Given the description of an element on the screen output the (x, y) to click on. 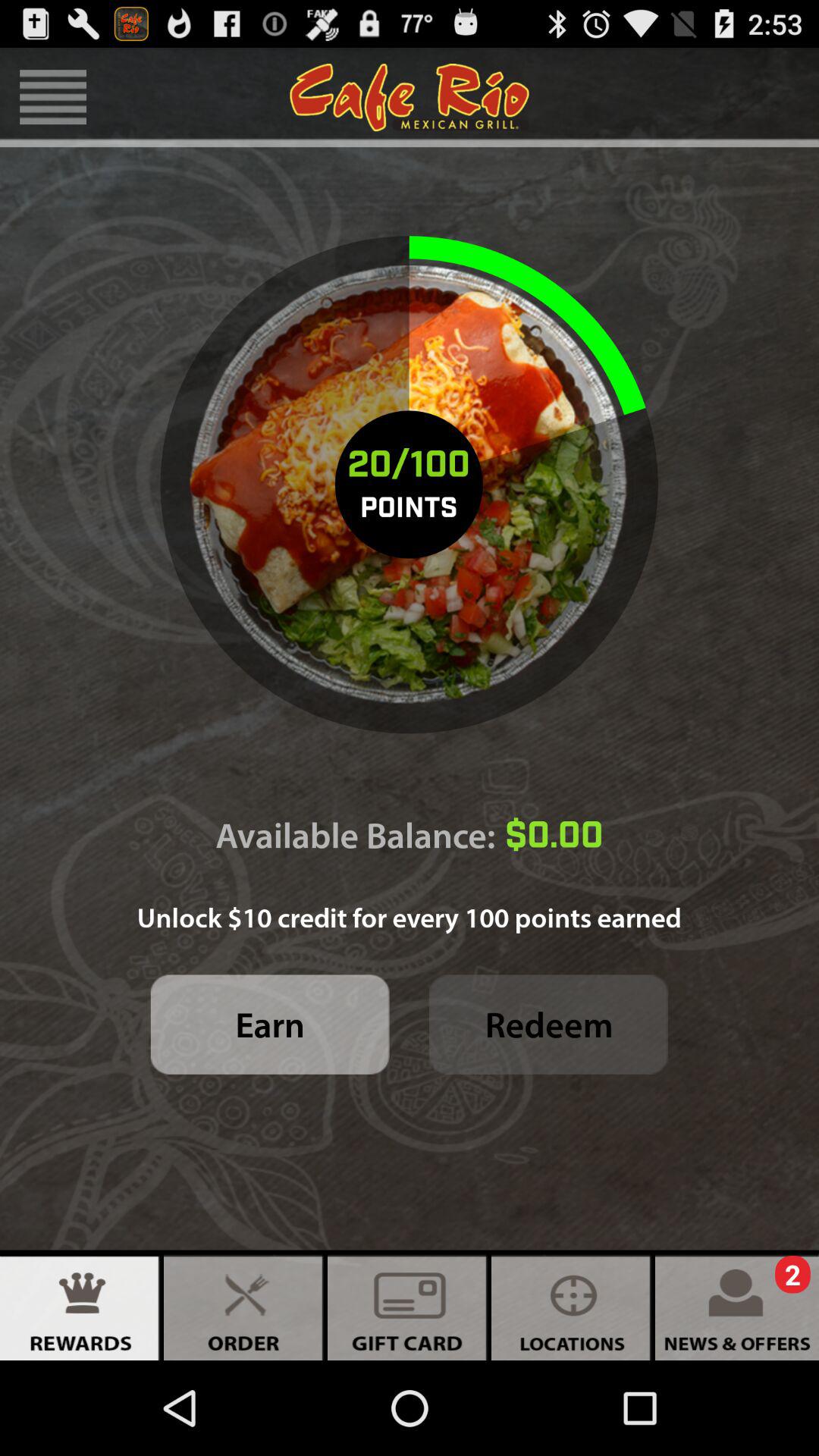
turn on the icon next to earn icon (548, 1024)
